Given the description of an element on the screen output the (x, y) to click on. 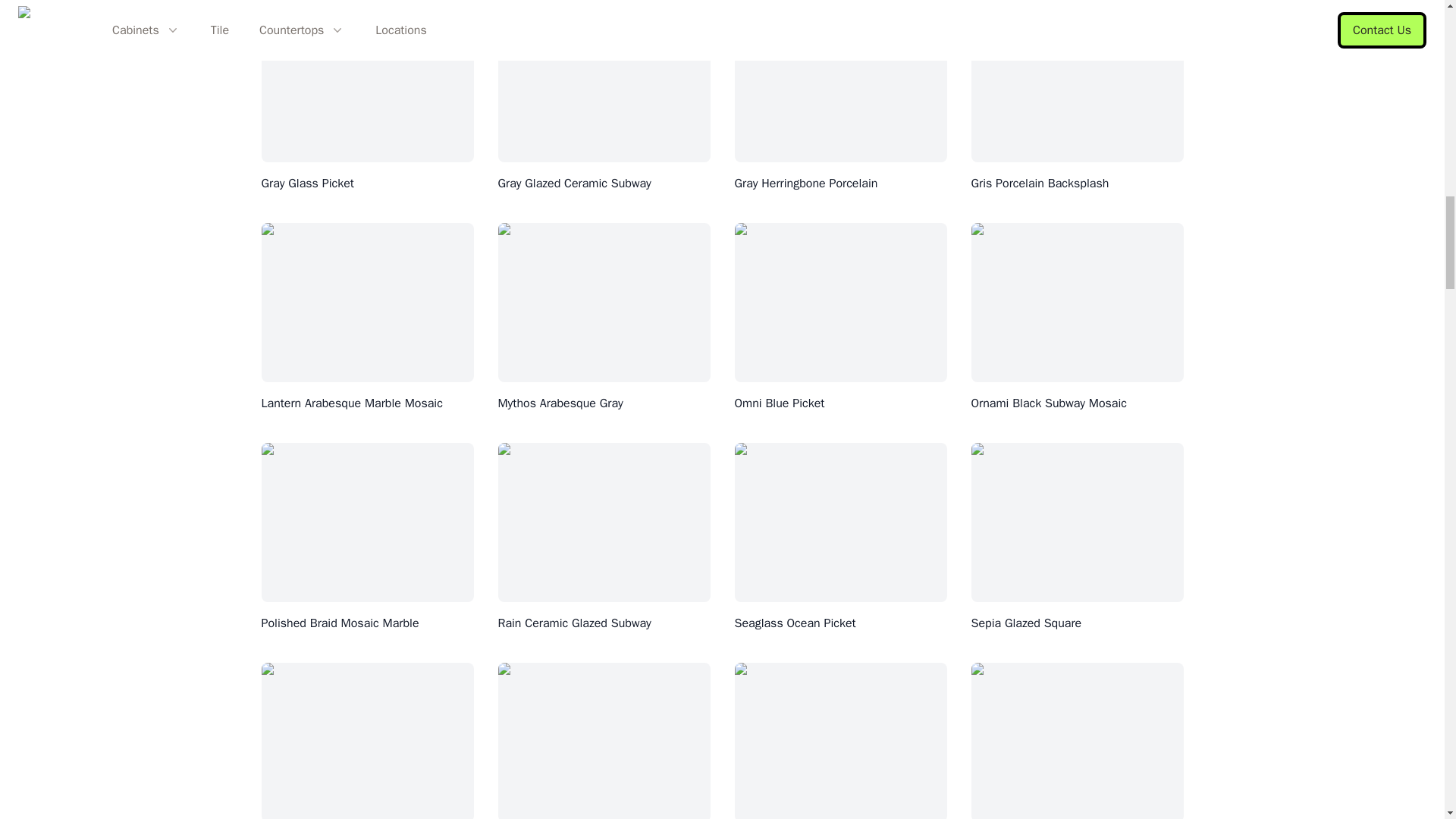
Gray Herringbone Porcelain (805, 183)
Rain Ceramic Glazed Subway (573, 622)
Polished Braid Mosaic Marble (339, 622)
Gray Glass Picket (306, 183)
Gray Glazed Ceramic Subway (573, 183)
Omni Blue Picket (778, 403)
Lantern Arabesque Marble Mosaic (351, 403)
Ornami Black Subway Mosaic (1048, 403)
Seaglass Ocean Picket (794, 622)
Gris Porcelain Backsplash (1039, 183)
